Given the description of an element on the screen output the (x, y) to click on. 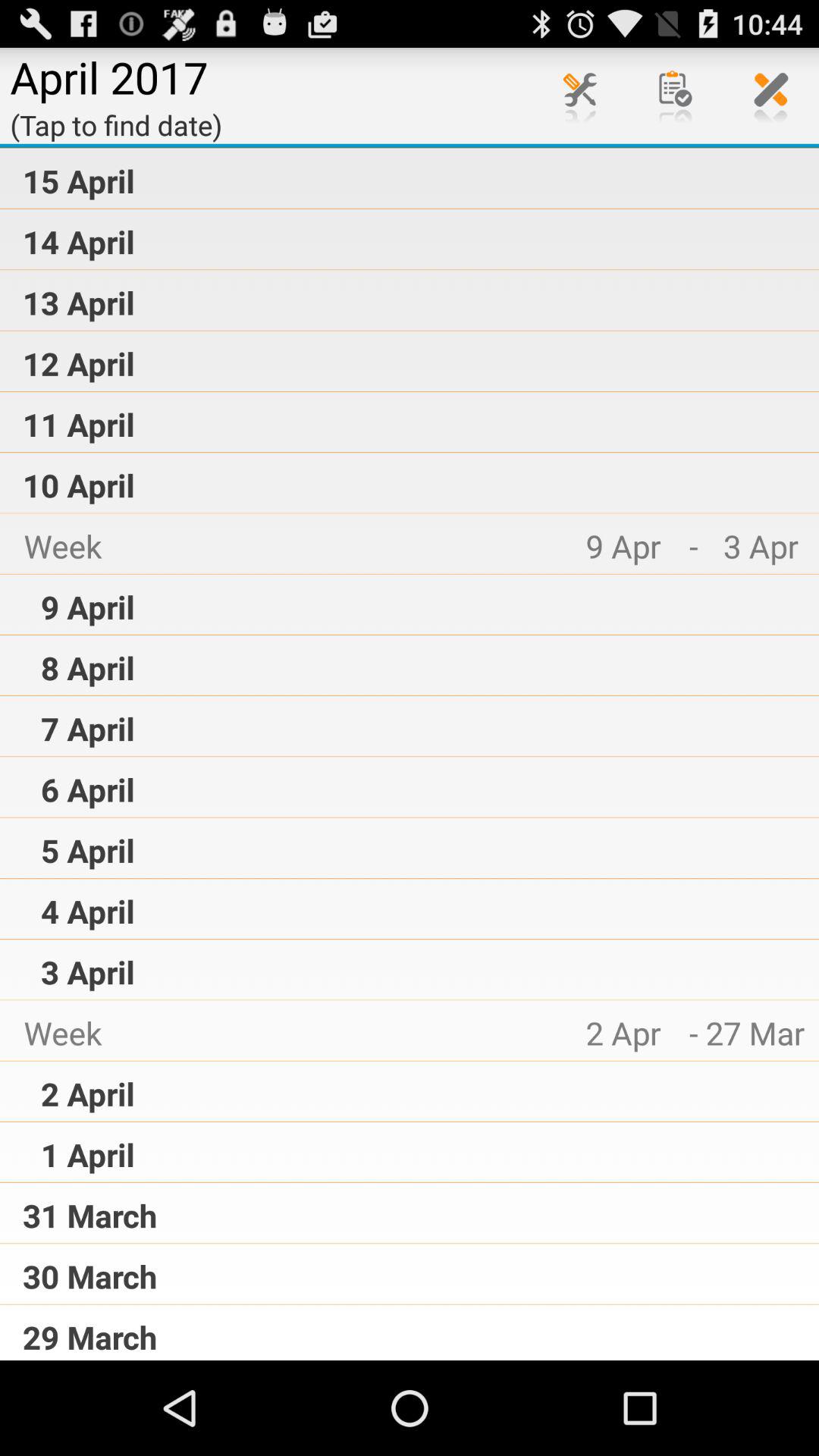
open calender (675, 95)
